Given the description of an element on the screen output the (x, y) to click on. 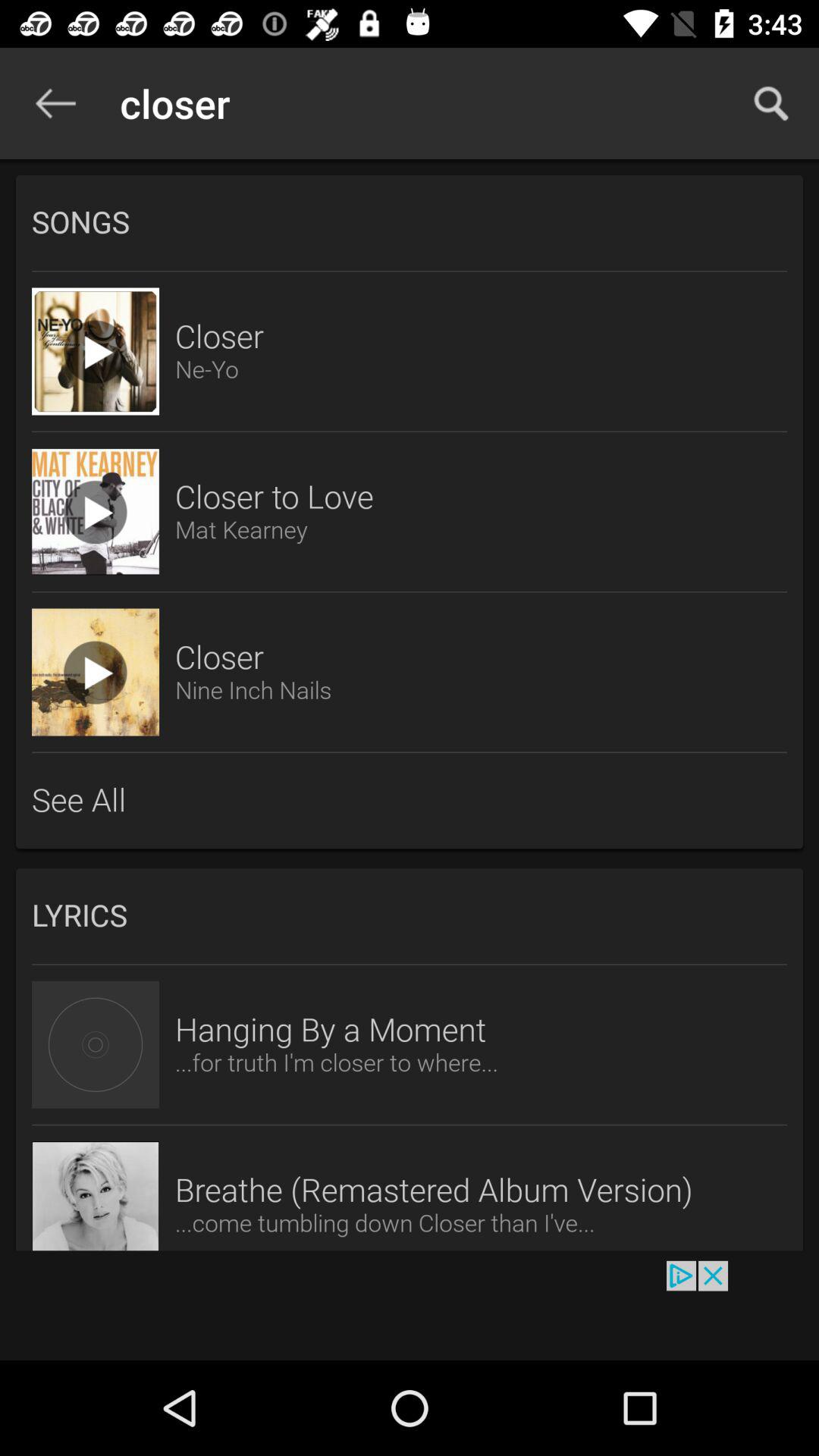
play the song closer to love by mat kearney (95, 511)
